Given the description of an element on the screen output the (x, y) to click on. 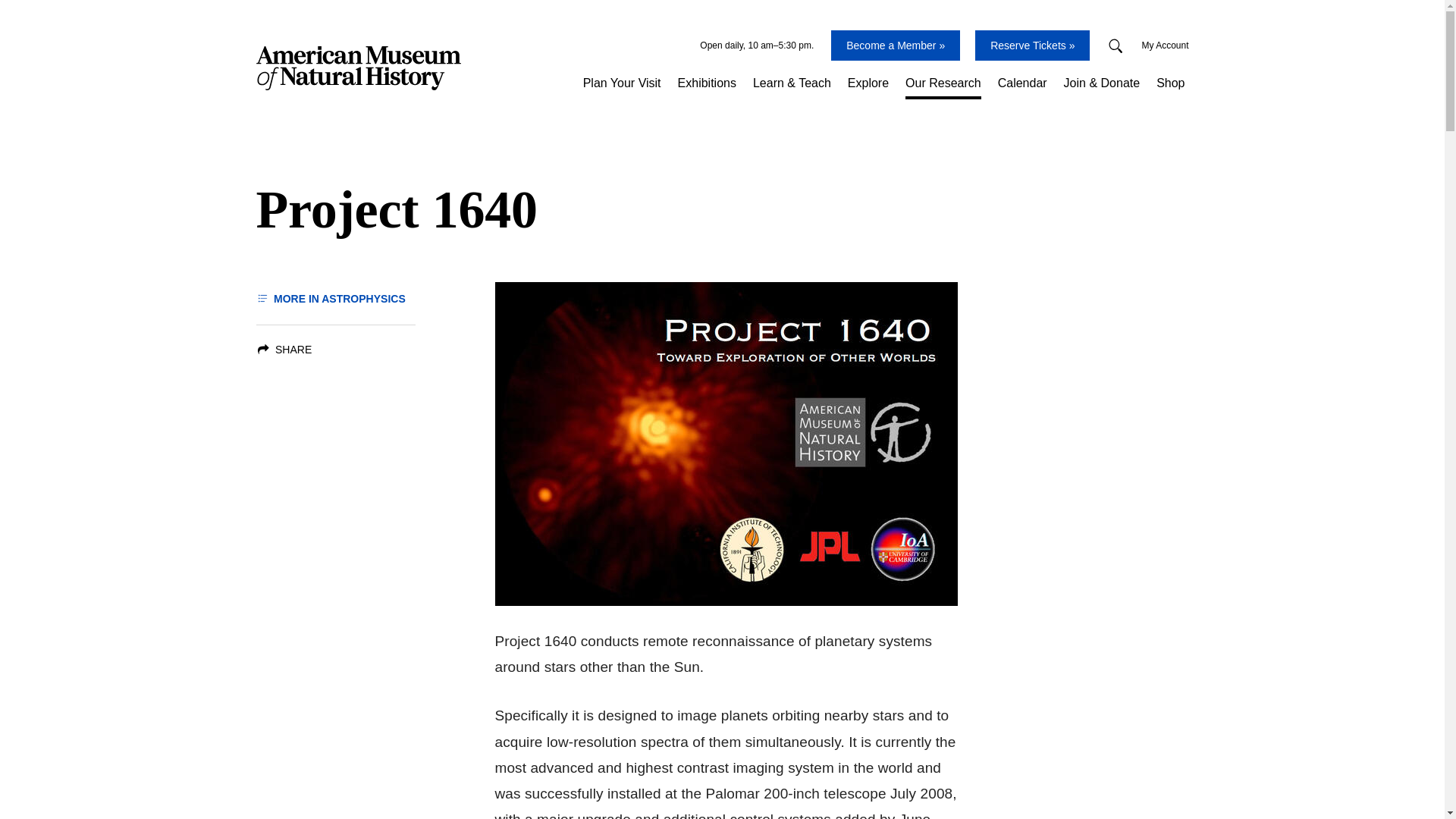
Plan Your Visit (622, 84)
Become a Member (895, 45)
Exhibitions (706, 84)
My Account (1164, 45)
Reserve Tickets (1032, 45)
